Given the description of an element on the screen output the (x, y) to click on. 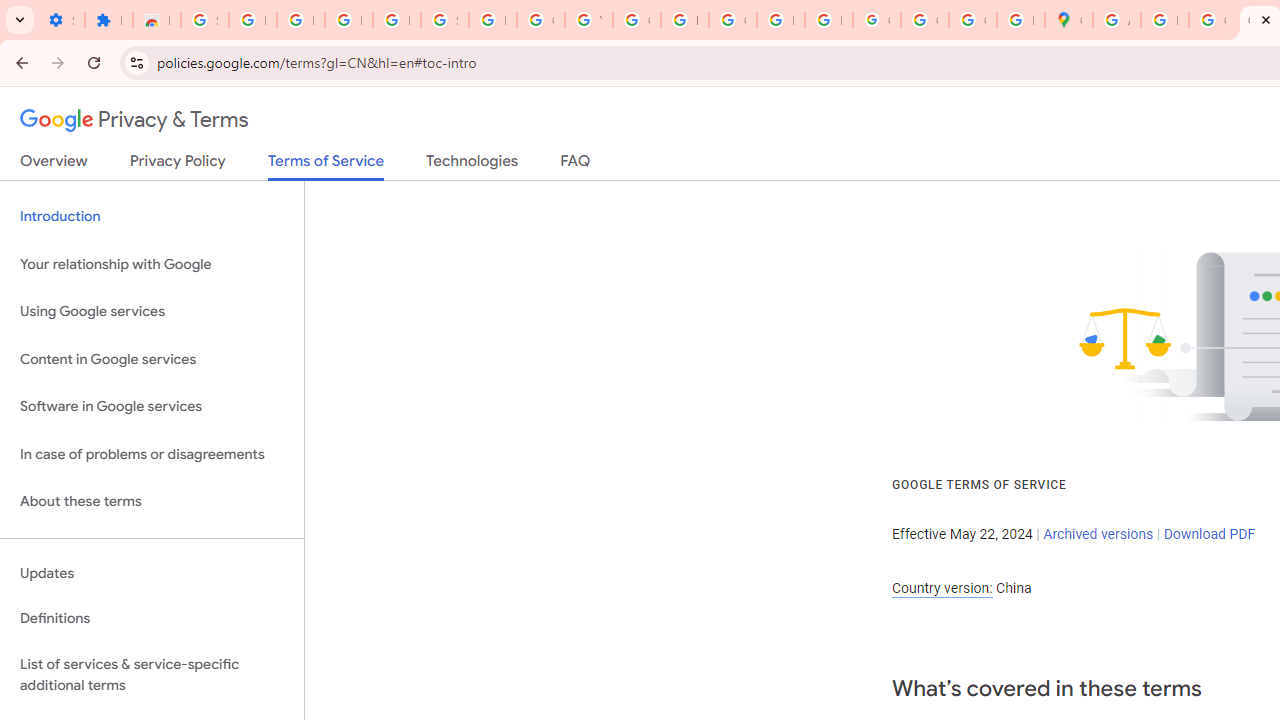
Overview (54, 165)
Technologies (472, 165)
Forward (57, 62)
Sign in - Google Accounts (444, 20)
Introduction (152, 216)
Updates (152, 573)
Archived versions (1098, 533)
Extensions (108, 20)
Google Maps (1068, 20)
YouTube (588, 20)
Privacy & Terms (134, 120)
Software in Google services (152, 407)
Search tabs (20, 20)
